Given the description of an element on the screen output the (x, y) to click on. 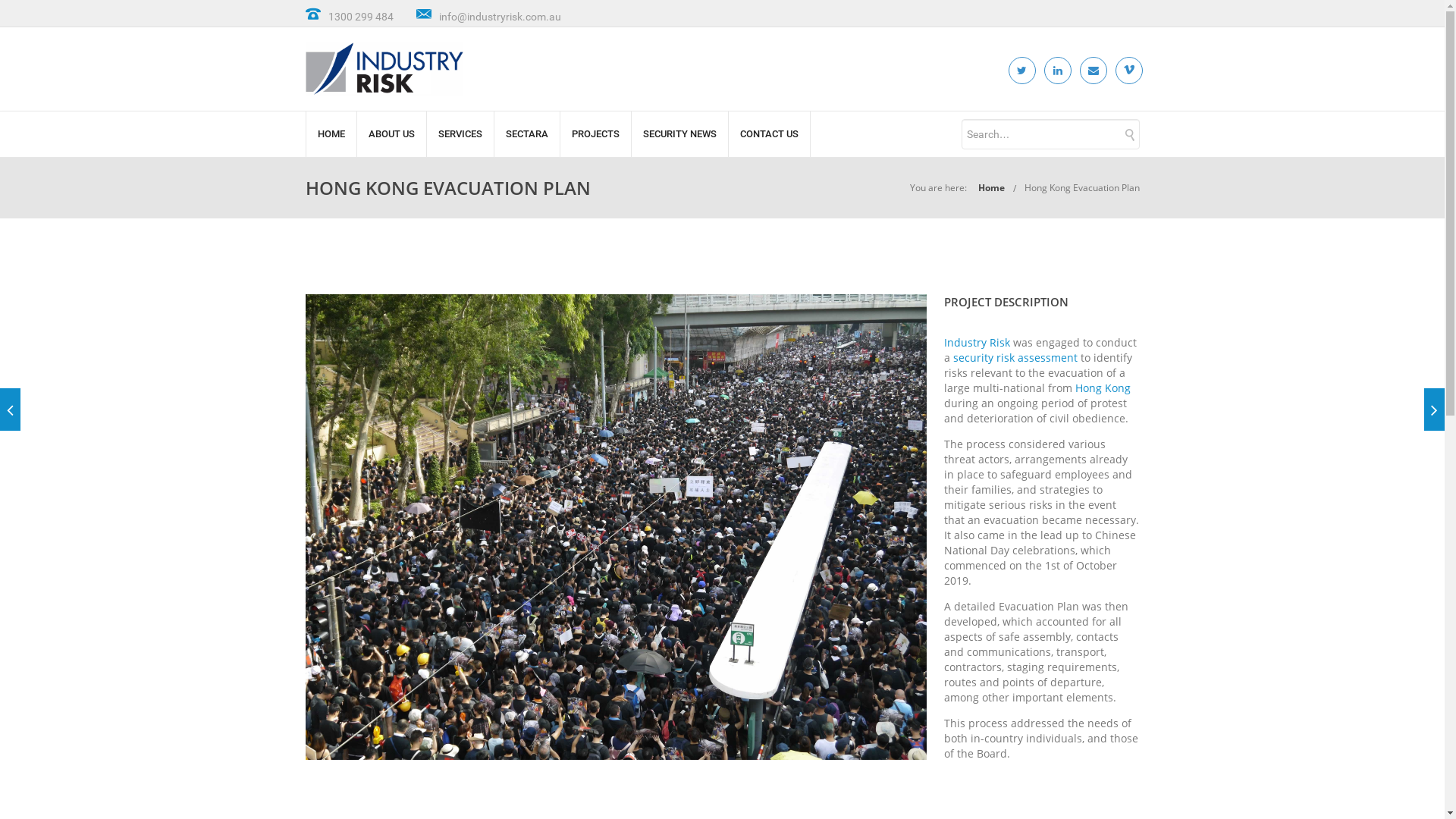
security risk assessment Element type: text (1015, 357)
Hong Kong Evacuation Plan Element type: text (1081, 187)
SERVICES Element type: text (460, 133)
HOME Element type: text (330, 133)
SECURITY NEWS Element type: text (679, 133)
Home Element type: text (991, 187)
1300 299 484 Element type: text (359, 16)
Industry Risk Element type: text (977, 342)
SECTARA Element type: text (526, 133)
info@industryrisk.com.au Element type: text (499, 16)
PROJECTS Element type: text (595, 133)
CONTACT US Element type: text (769, 133)
ABOUT US Element type: text (391, 133)
Hong Kong Element type: text (1102, 387)
